Given the description of an element on the screen output the (x, y) to click on. 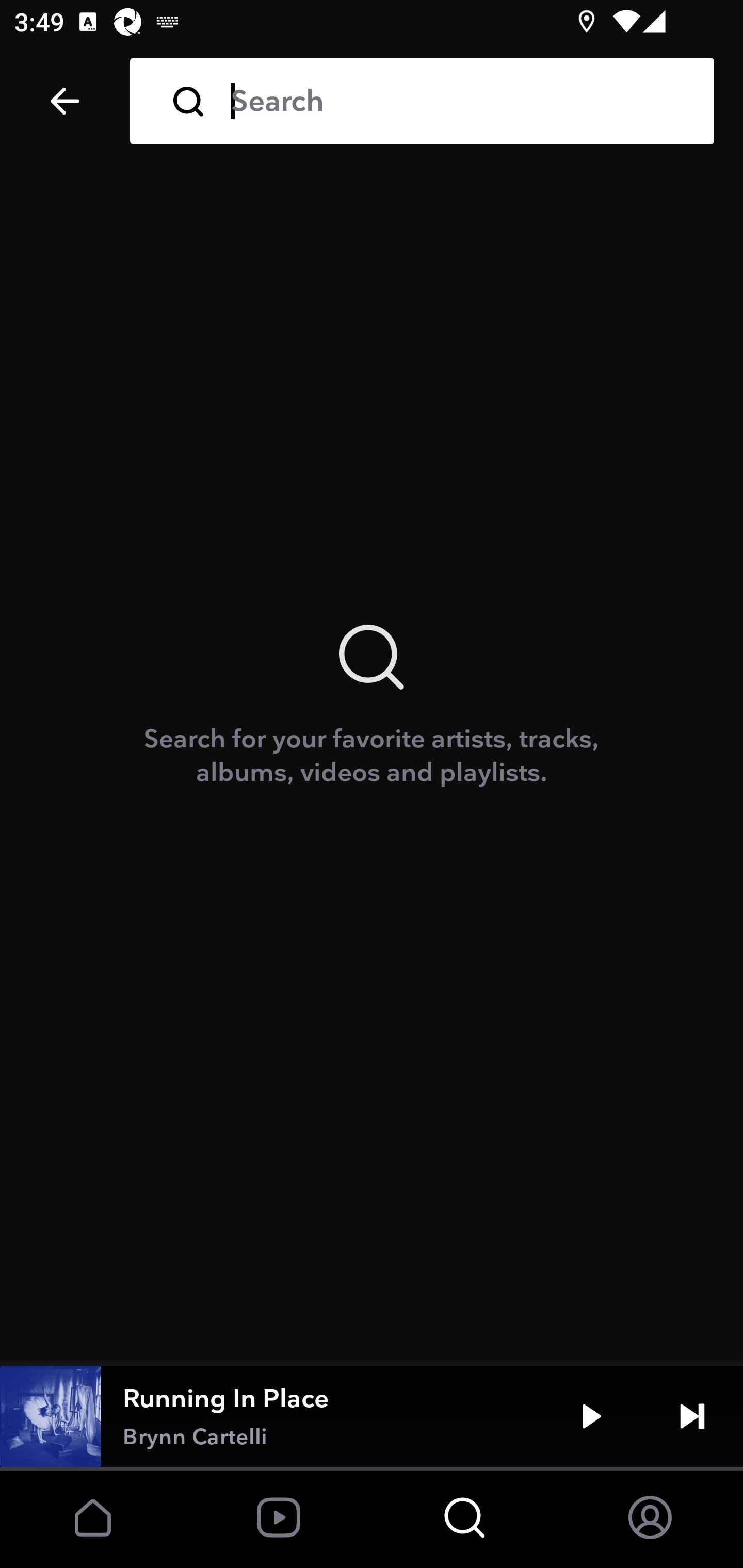
Search (457, 100)
Running In Place Brynn Cartelli Play (371, 1416)
Play (590, 1416)
